Given the description of an element on the screen output the (x, y) to click on. 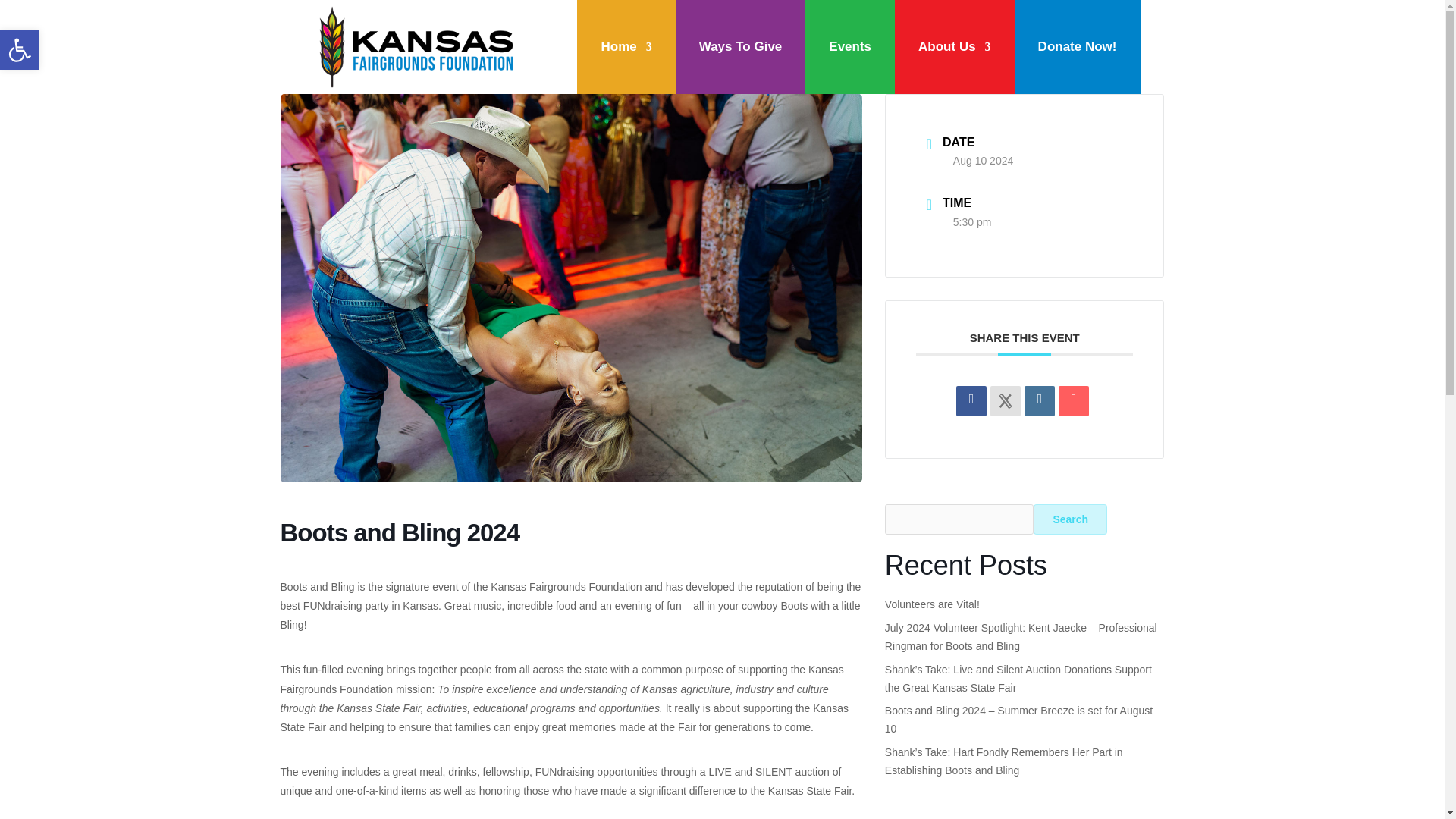
X Social Network (1005, 400)
Accessibility Tools (19, 49)
Share on Facebook (19, 49)
Linkedin (971, 400)
Email (1039, 400)
Accessibility Tools (1073, 400)
